Given the description of an element on the screen output the (x, y) to click on. 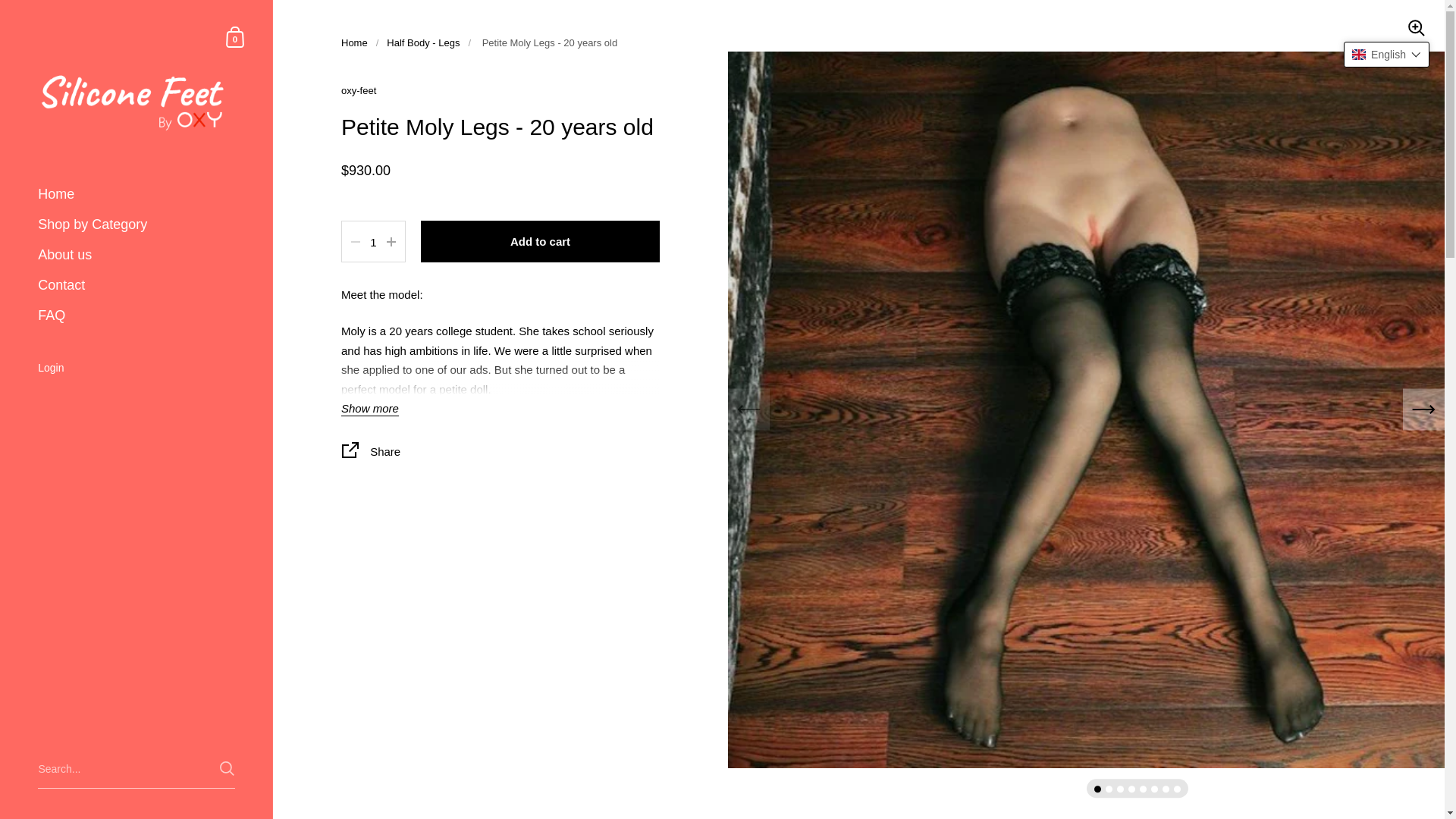
Home (136, 194)
Show more (369, 409)
FAQ (136, 316)
Shop by Category (136, 224)
Add to cart (235, 35)
Shopping Cart (539, 241)
About us (235, 35)
Home (136, 255)
Share (354, 42)
